Given the description of an element on the screen output the (x, y) to click on. 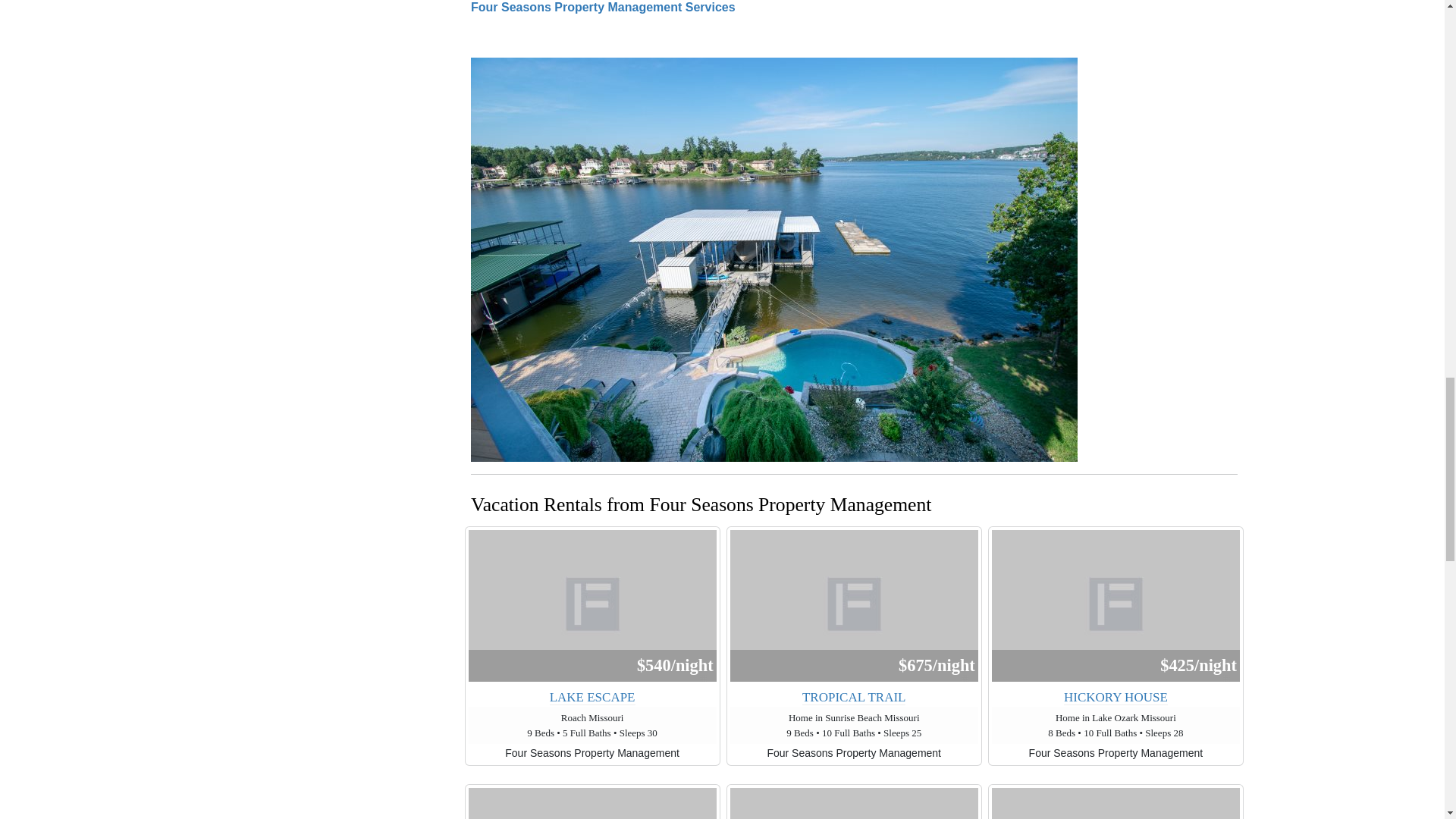
LAKE ESCAPE (592, 697)
Four Seasons Property Management Services (602, 6)
